Given the description of an element on the screen output the (x, y) to click on. 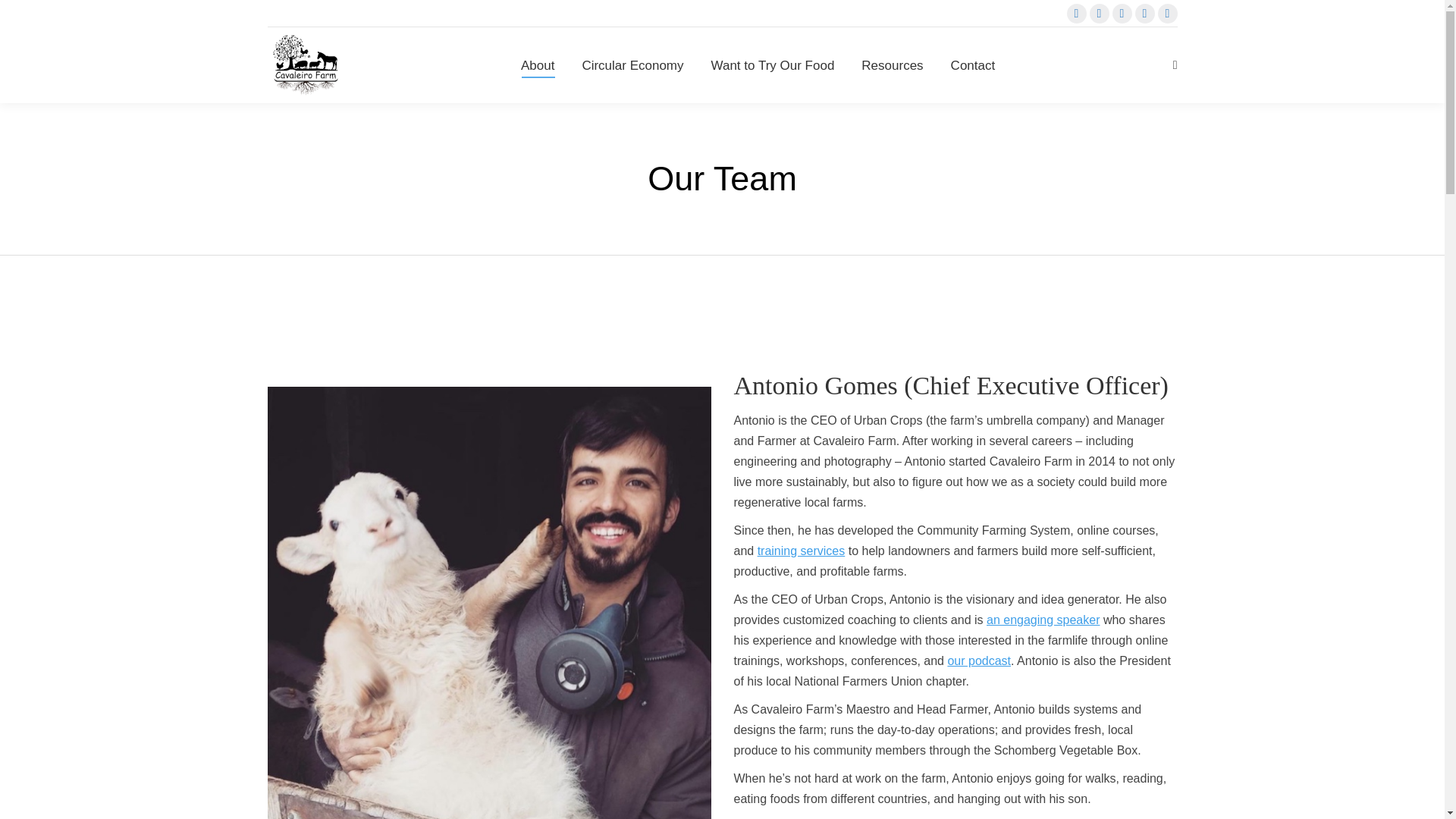
Website page opens in new window (1144, 13)
Want to Try Our Food (772, 64)
Facebook page opens in new window (1075, 13)
Facebook page opens in new window (1075, 13)
Contact (972, 64)
Mail page opens in new window (1166, 13)
Instagram page opens in new window (1098, 13)
Resources (892, 64)
Mail page opens in new window (1166, 13)
Website page opens in new window (1144, 13)
